Given the description of an element on the screen output the (x, y) to click on. 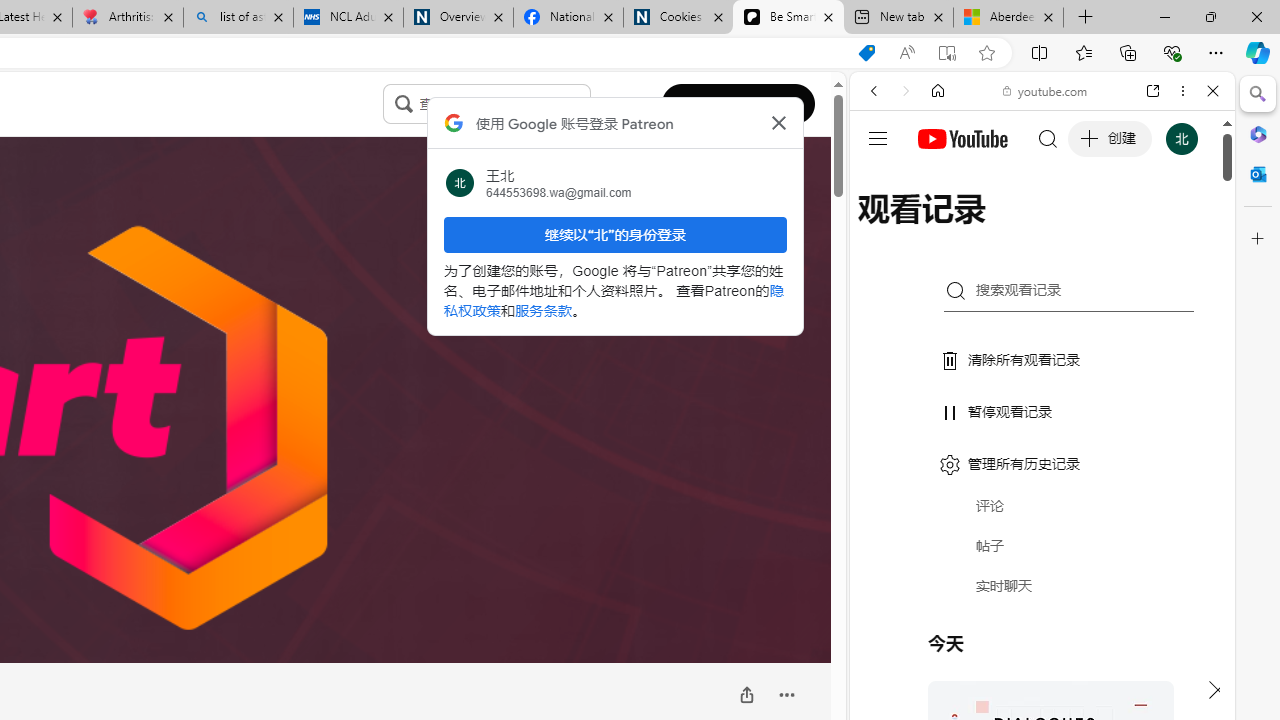
youtube.com (1046, 90)
